Given the description of an element on the screen output the (x, y) to click on. 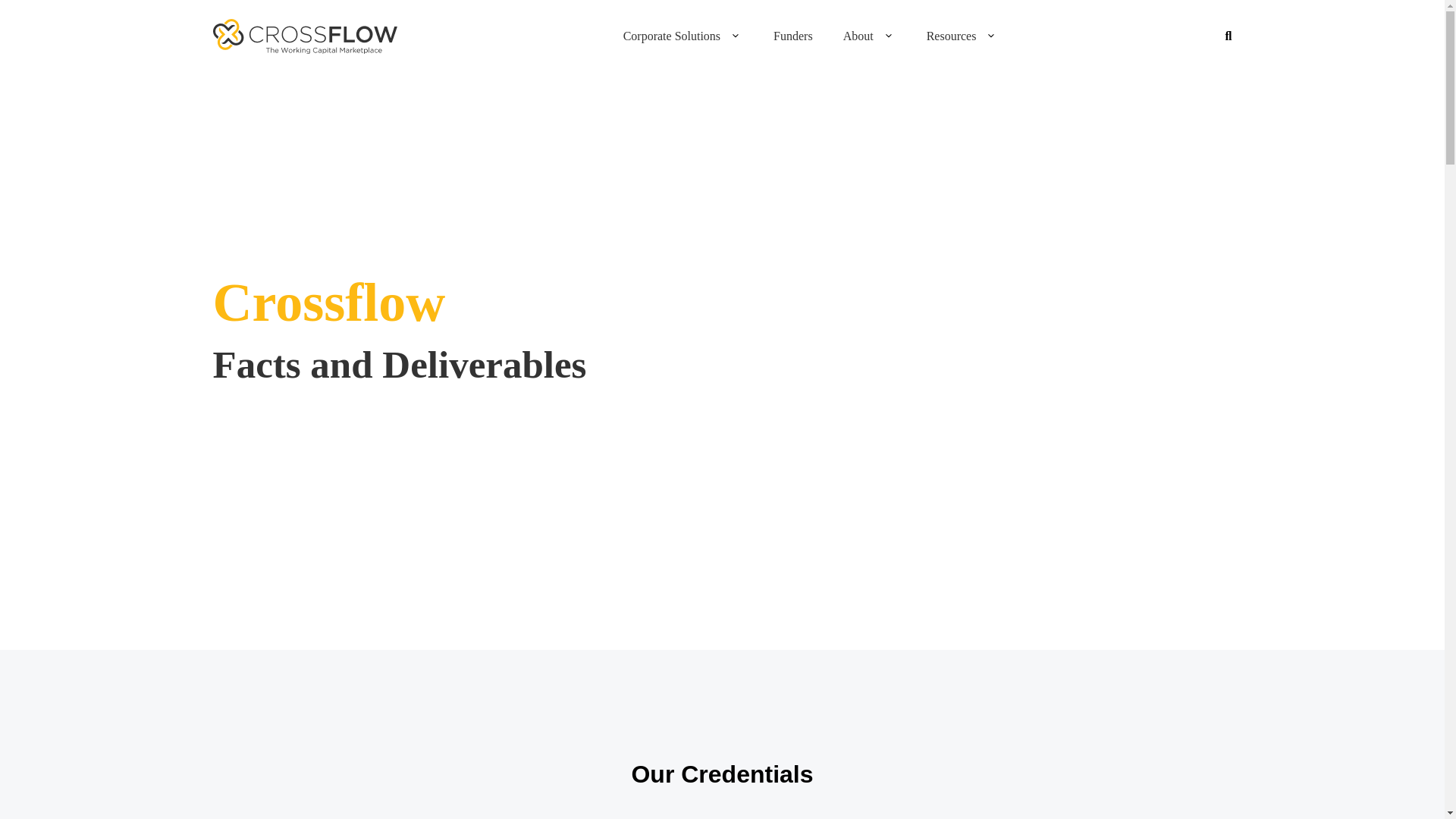
About (858, 36)
Funders (792, 36)
Corporate Solutions (671, 36)
Resources (951, 36)
